Given the description of an element on the screen output the (x, y) to click on. 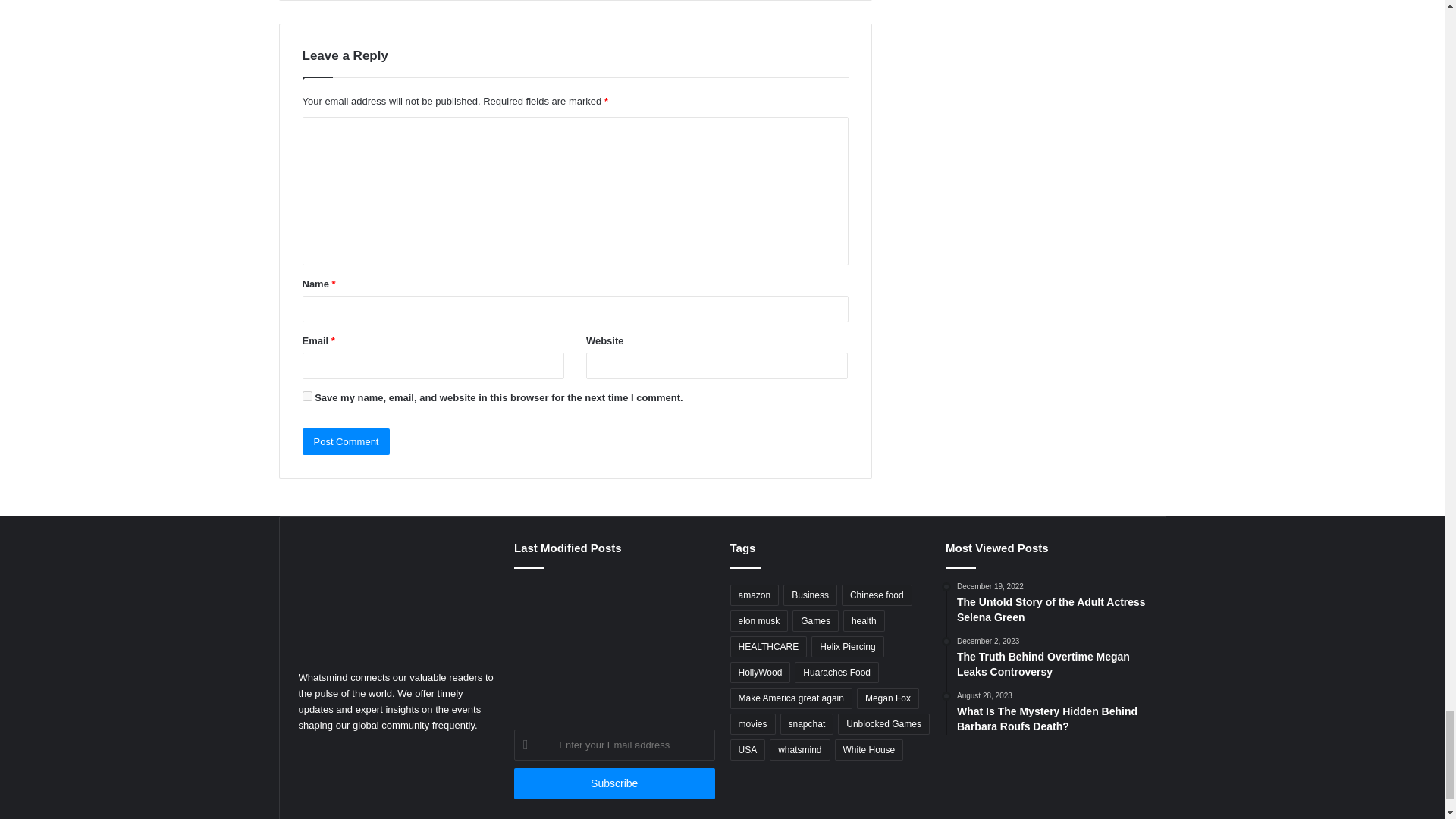
yes (306, 396)
Post Comment (345, 441)
Subscribe (613, 783)
